Given the description of an element on the screen output the (x, y) to click on. 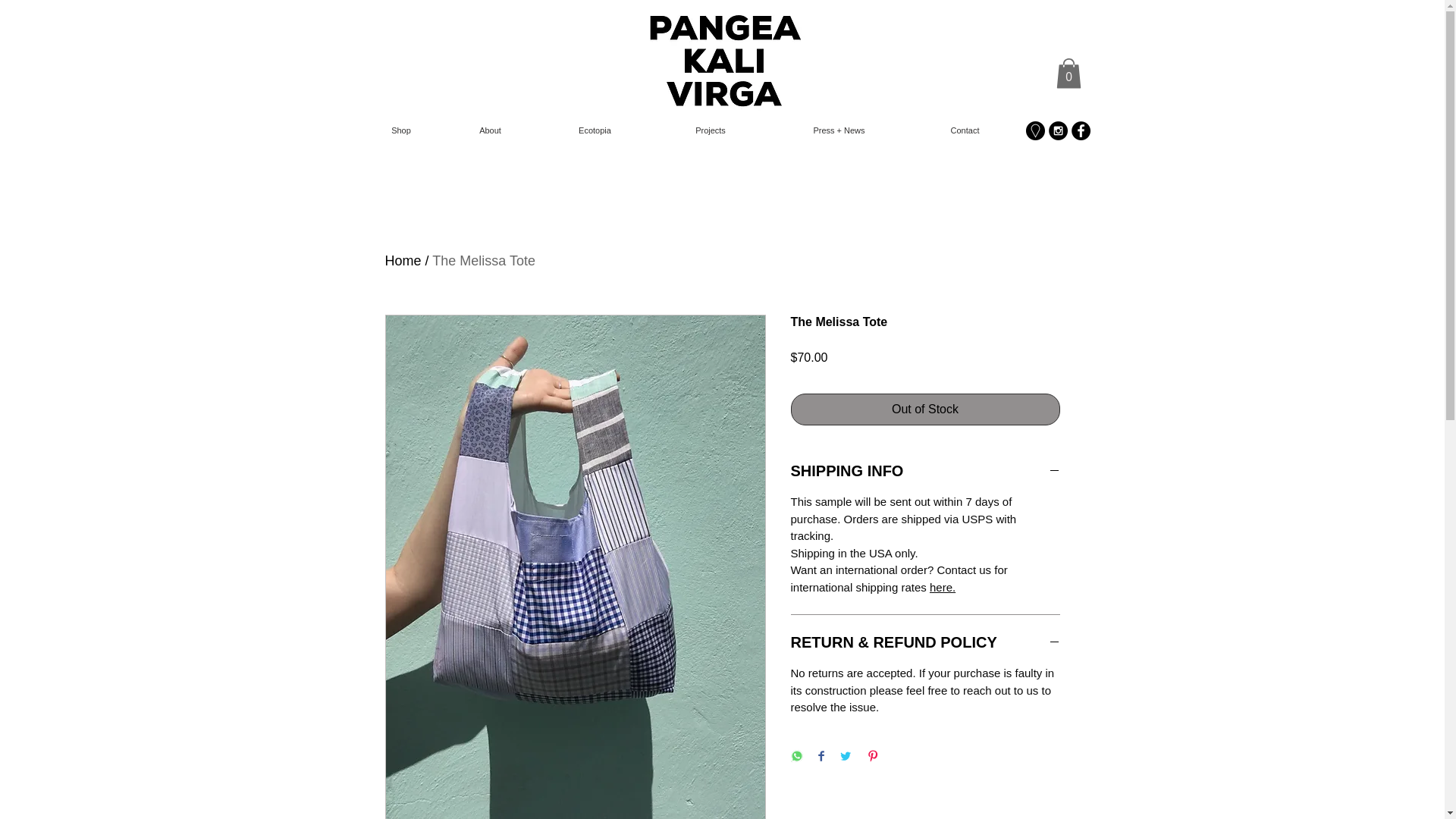
Projects (710, 130)
About (489, 130)
Ecotopia (594, 130)
Conversion Popup (722, 15)
Home (403, 260)
Contact (965, 130)
The Melissa Tote (483, 260)
Shop (401, 130)
